Given the description of an element on the screen output the (x, y) to click on. 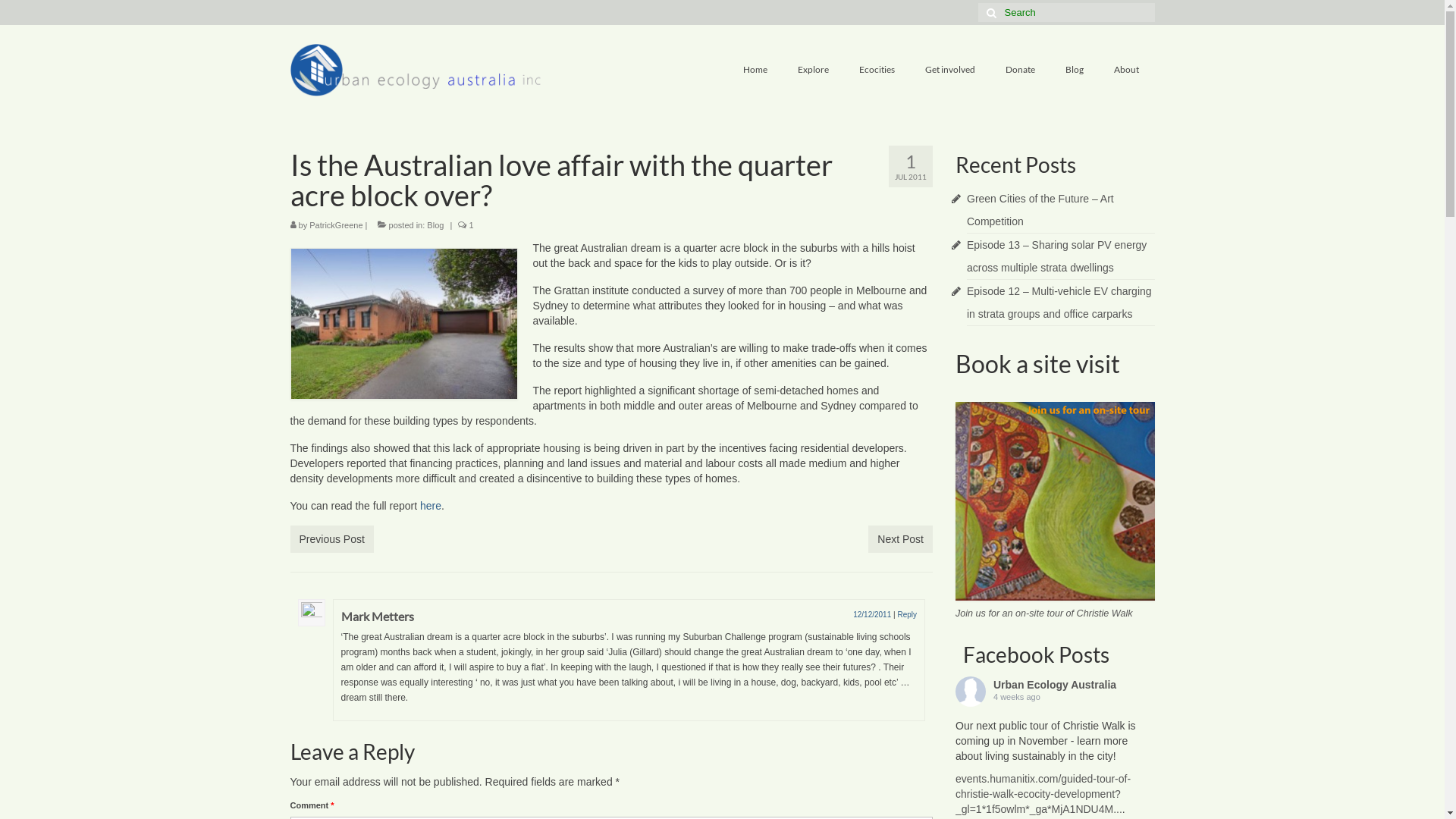
Home Element type: text (755, 69)
PatrickGreene Element type: text (335, 224)
Previous Post Element type: text (331, 538)
About Element type: text (1126, 69)
Urban Ecology Australia Element type: text (1054, 684)
Donate Element type: text (1020, 69)
Get involved Element type: text (950, 69)
Explore Element type: text (813, 69)
Blog Element type: text (434, 224)
Join us for an on-site tour of Christie Walk Element type: text (1043, 613)
12/12/2011 Element type: text (872, 614)
here Element type: text (430, 505)
Next Post Element type: text (900, 538)
Ecocities Element type: text (877, 69)
The Great Australian Dream? Element type: hover (403, 323)
Reply Element type: text (906, 614)
Blog Element type: text (1074, 69)
